Given the description of an element on the screen output the (x, y) to click on. 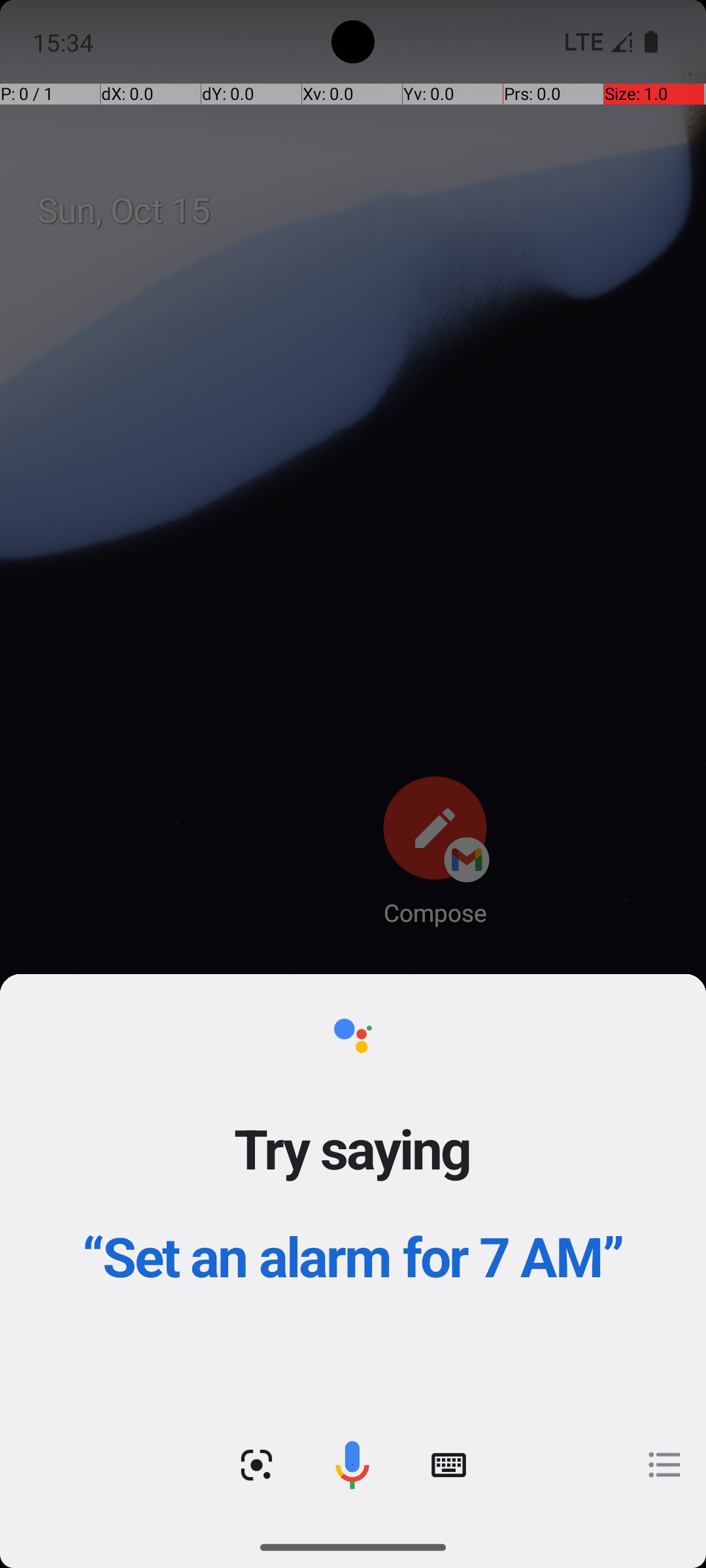
Tap to dismiss Assistant Element type: android.view.ViewGroup (353, 804)
Google Assistant widget. Element type: android.support.v7.widget.RecyclerView (353, 1250)
Google Assistant greeting container. Element type: android.widget.LinearLayout (353, 1188)
Camera search Element type: android.widget.ImageView (256, 1465)
Voice search button, tap to speak Element type: android.view.View (351, 1465)
Type mode Element type: android.widget.ImageView (448, 1465)
Google Assistant greeting. Element type: android.widget.FrameLayout (353, 1250)
Open explore page Element type: android.widget.ImageView (664, 1464)
Try saying Element type: android.widget.TextView (352, 1147)
“Set an alarm for 7 AM” Element type: android.widget.TextView (352, 1255)
